Given the description of an element on the screen output the (x, y) to click on. 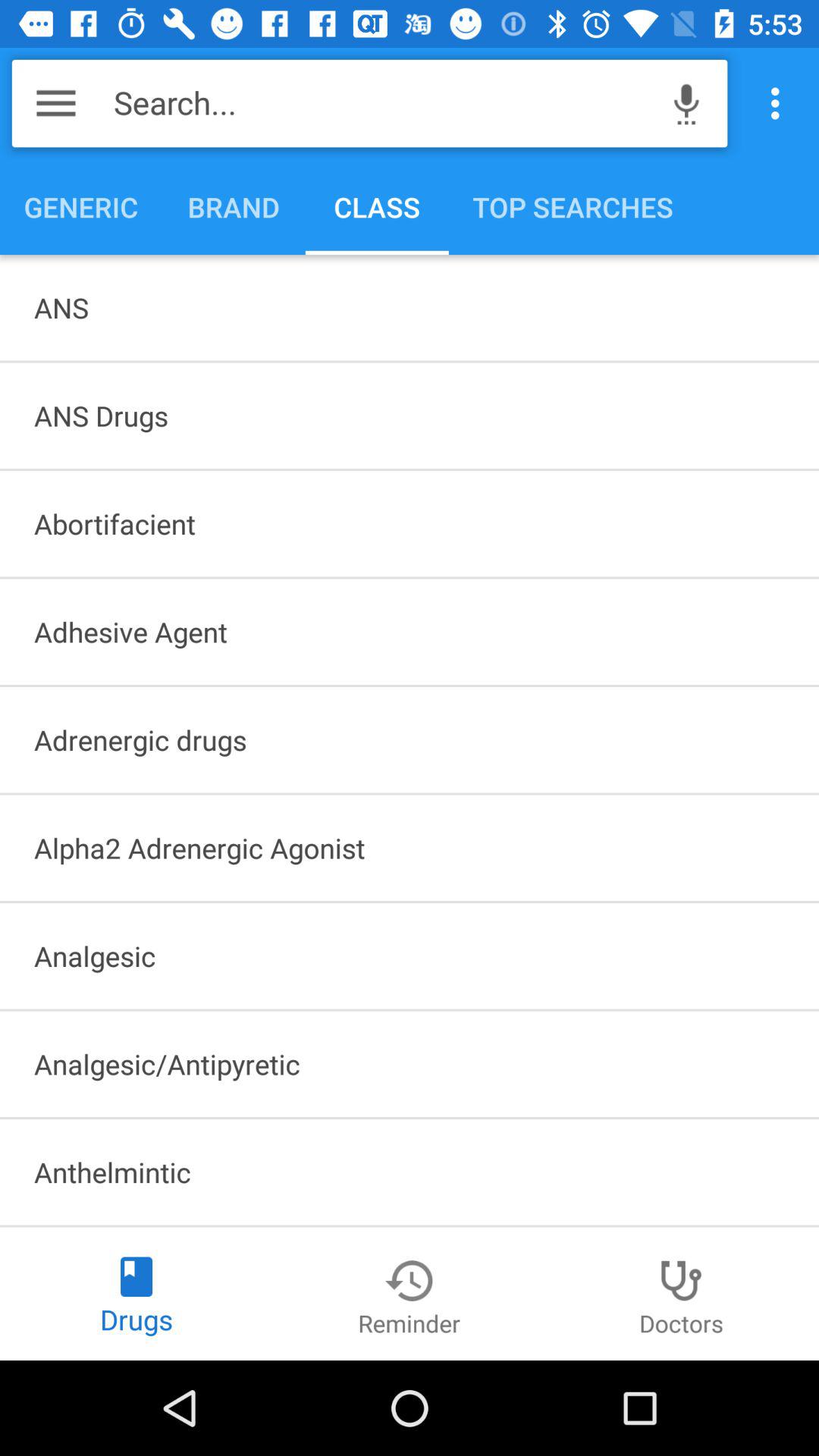
choose the icon above adrenergic drugs item (409, 631)
